Given the description of an element on the screen output the (x, y) to click on. 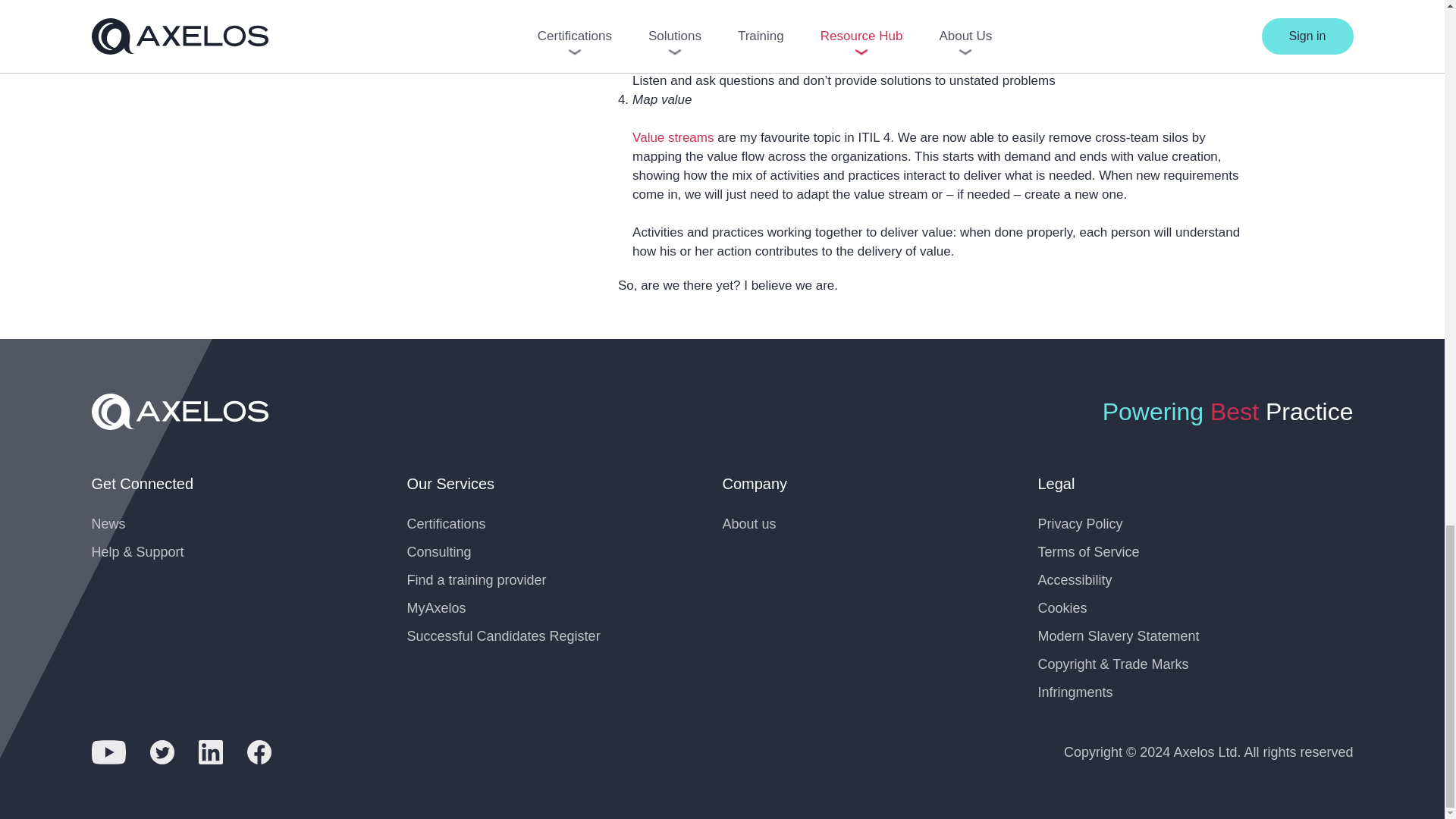
Certifications (445, 523)
Privacy Policy (1079, 523)
Modern Slavery Statement (1117, 635)
Terms of Service (1087, 551)
Cookies (1061, 607)
Accessibility (1074, 580)
News (107, 523)
Find a training provider (476, 580)
About us (749, 523)
MyAxelos (435, 607)
Value streams (672, 137)
Consulting (438, 551)
Infringments (1074, 692)
Successful Candidates Register (502, 635)
